Given the description of an element on the screen output the (x, y) to click on. 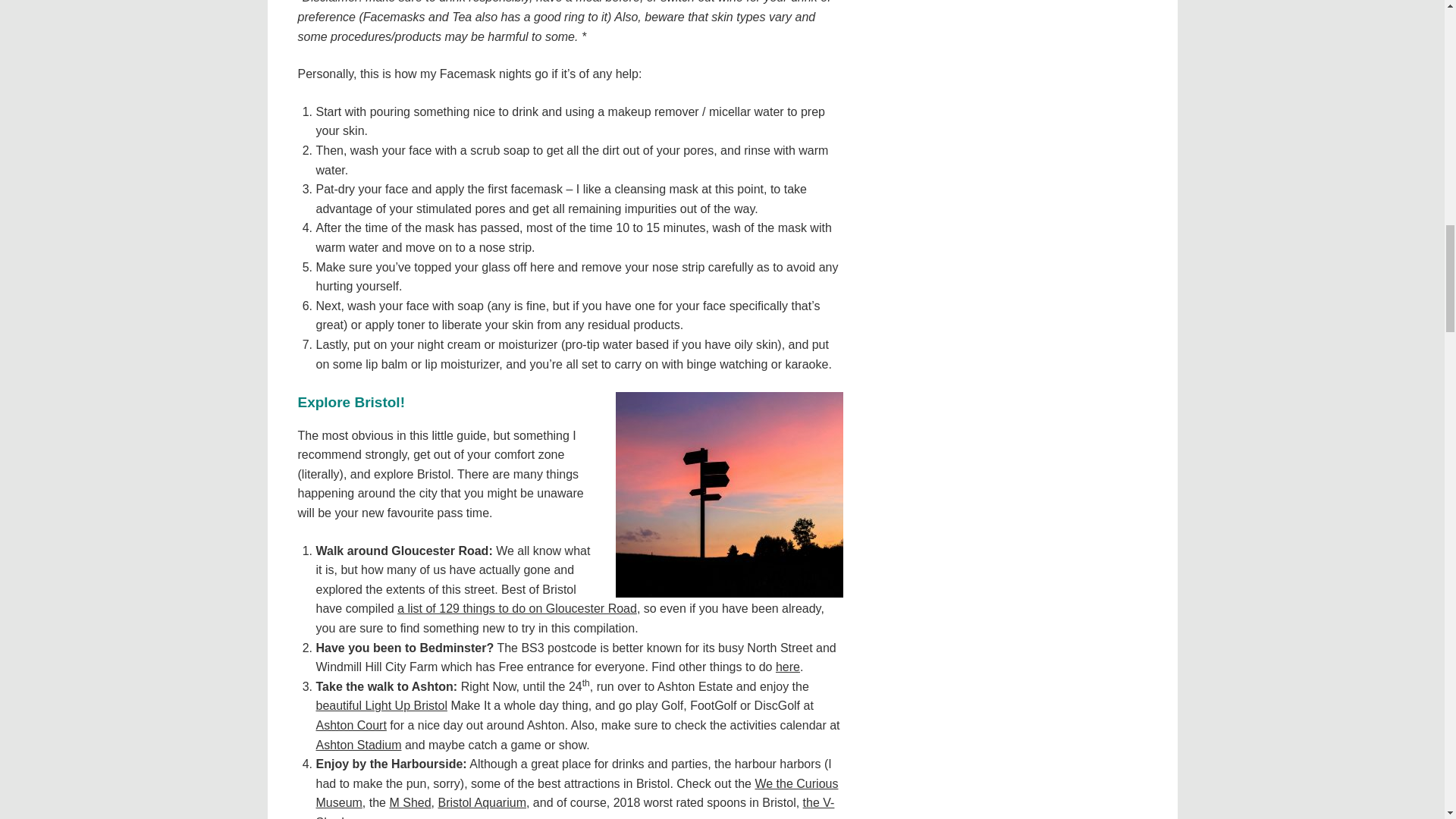
a list of 129 things to do on Gloucester Road (517, 608)
here (787, 666)
Ashton Stadium (358, 744)
beautiful Light Up Bristol (380, 705)
the V-Shed (574, 807)
Bristol Aquarium (481, 802)
Ashton Court (350, 725)
We the Curious Museum (576, 793)
M Shed (409, 802)
Subscribe me! (1050, 291)
